Given the description of an element on the screen output the (x, y) to click on. 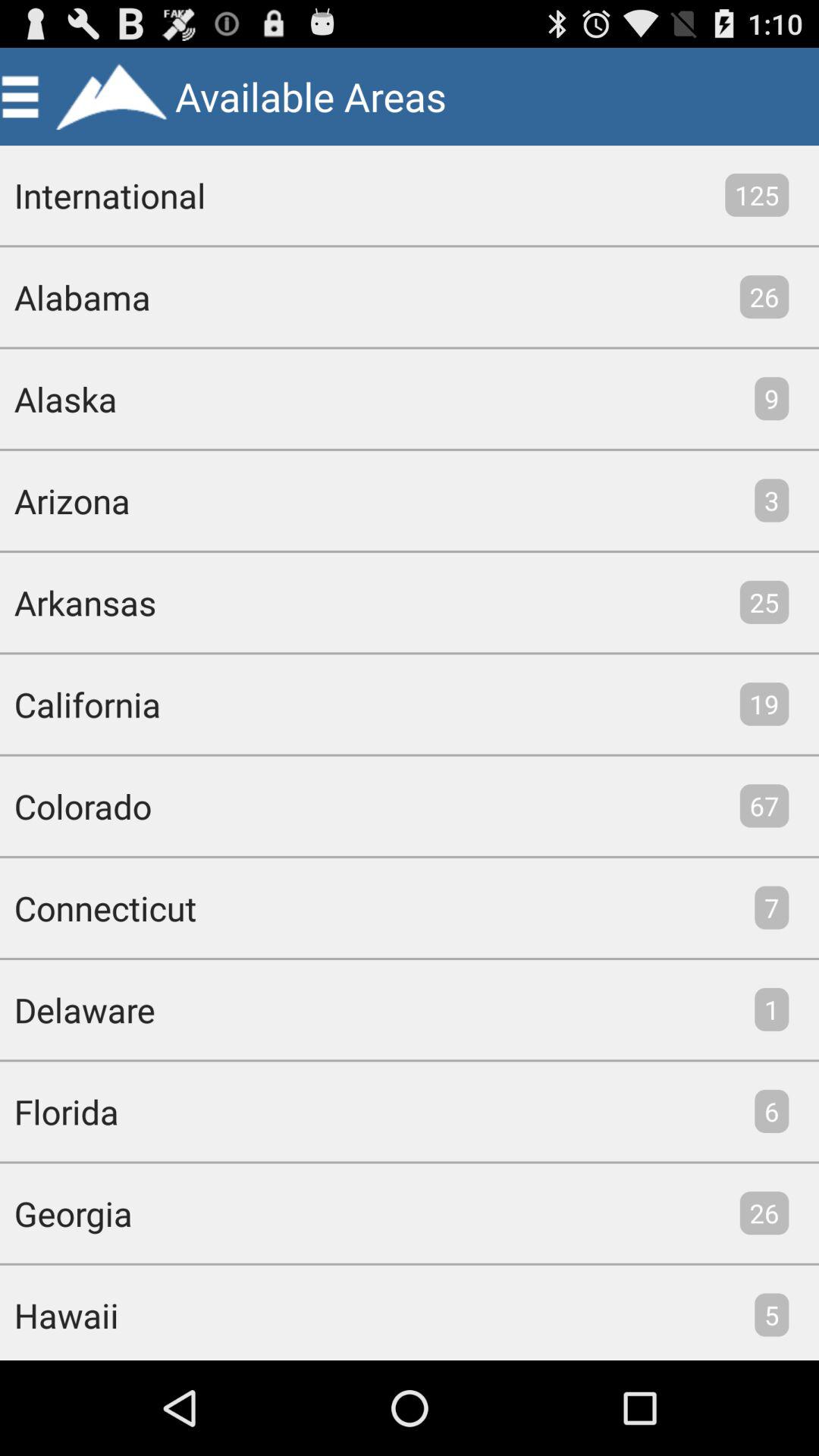
press california icon (80, 704)
